Given the description of an element on the screen output the (x, y) to click on. 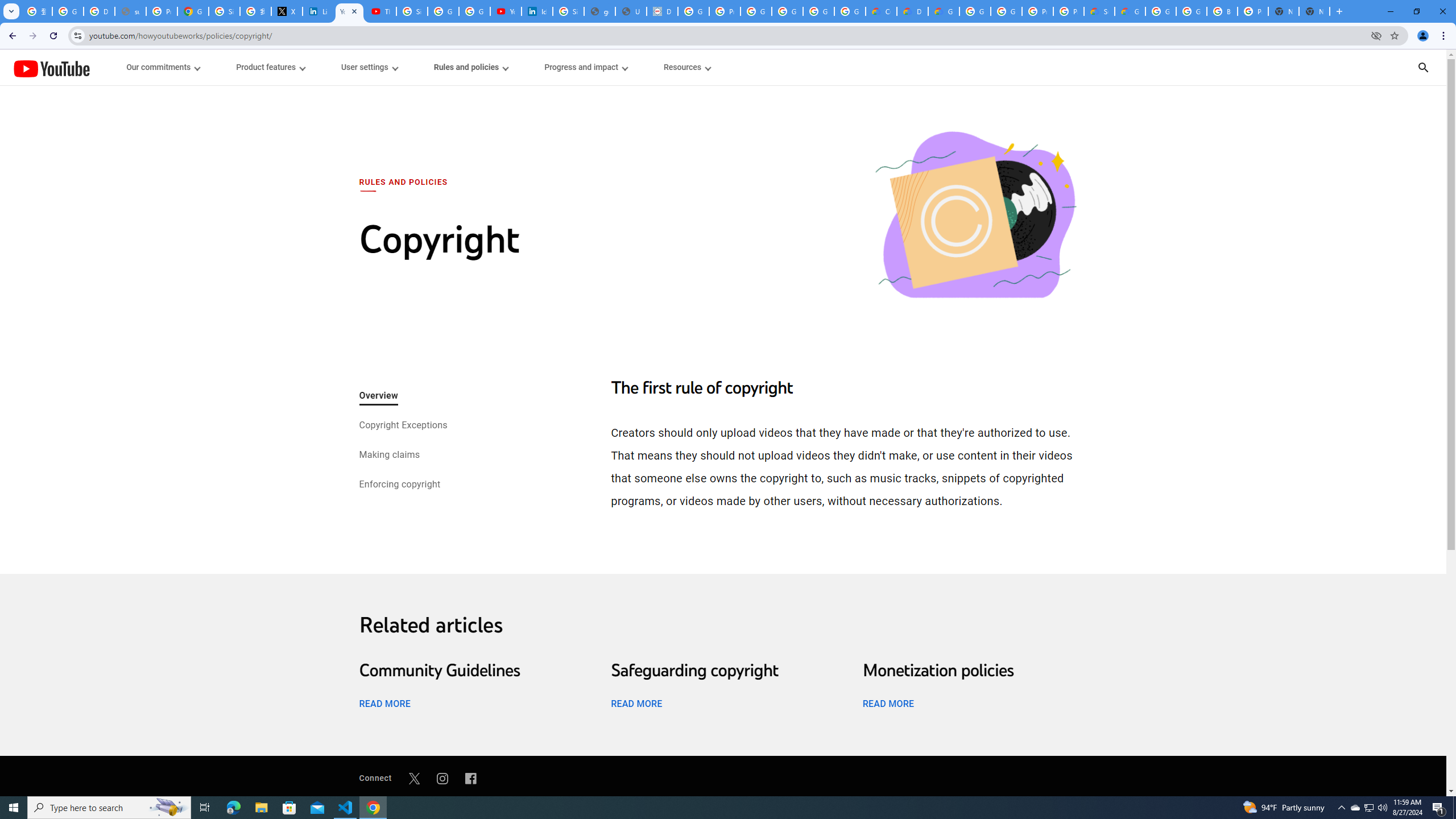
Our commitments menupopup (163, 67)
Product features menupopup (269, 67)
Minimize (1390, 11)
Support Hub | Google Cloud (1098, 11)
